Given the description of an element on the screen output the (x, y) to click on. 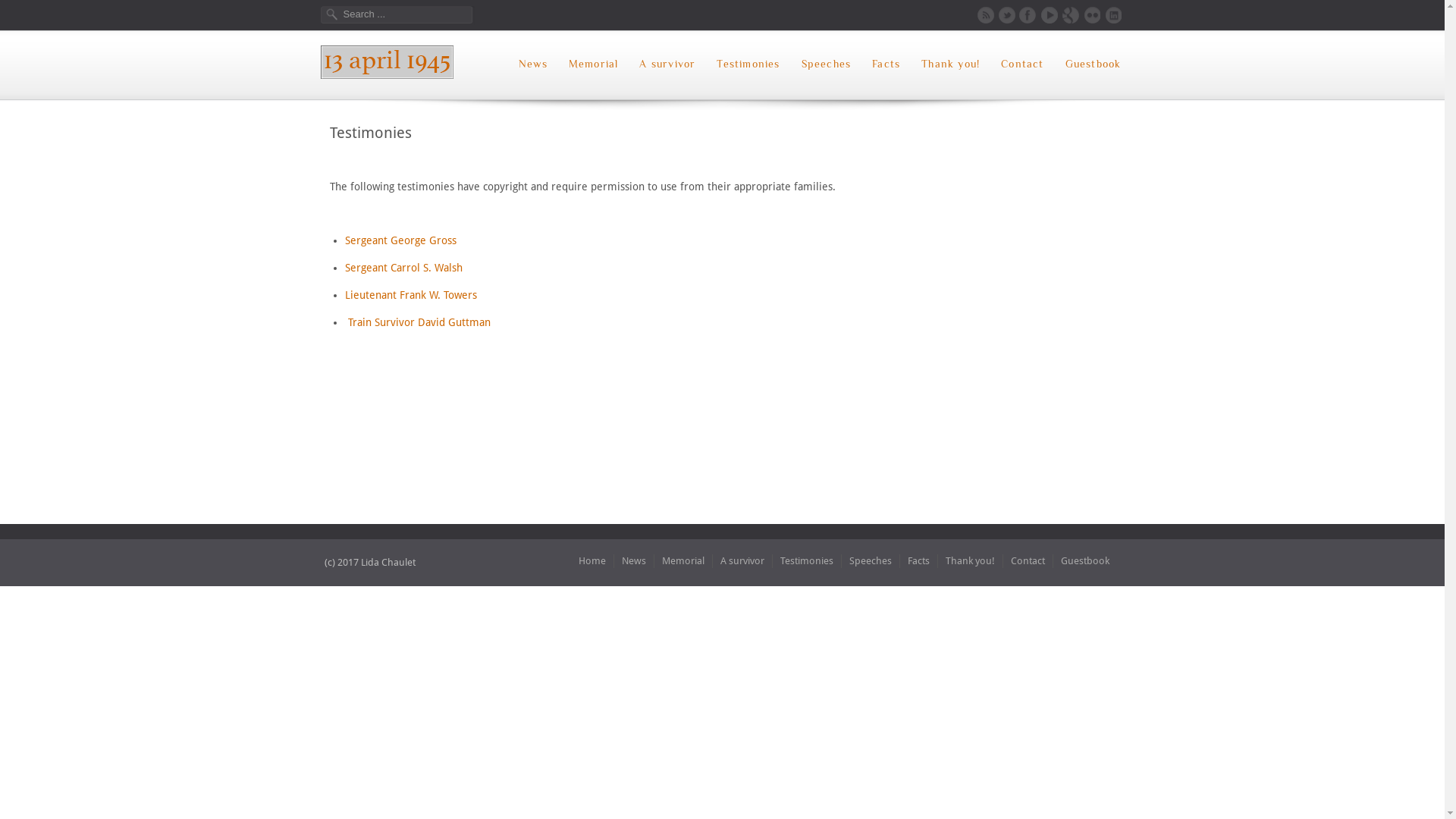
Facts Element type: text (918, 560)
Testimonies Element type: text (805, 560)
Contact Element type: text (1021, 63)
LinkedIn Element type: hover (1112, 14)
Youtube Element type: hover (1048, 14)
Guestbook Element type: text (1084, 560)
News Element type: text (532, 63)
Speeches Element type: text (826, 63)
Thank you! Element type: text (950, 63)
Guestbook Element type: text (1093, 63)
Testimonies Element type: text (747, 63)
Thank you! Element type: text (969, 560)
Flickr Element type: hover (1091, 14)
Train Survivor David Guttman Element type: text (418, 322)
RSS Feed Element type: hover (985, 14)
Twitter Element type: hover (1006, 14)
Facts Element type: text (885, 63)
Lieutenant Frank W. Towers Element type: text (410, 294)
Memorial Element type: text (682, 560)
A survivor Element type: text (742, 560)
Sergeant George Gross Element type: text (399, 240)
News Element type: text (634, 560)
Memorial Element type: text (593, 63)
Facebook Element type: hover (1027, 14)
Google Element type: hover (1070, 14)
A survivor Element type: text (667, 63)
Speeches Element type: text (870, 560)
Sergeant Carrol S. Walsh Element type: text (402, 267)
Home Element type: text (591, 560)
Contact Element type: text (1027, 560)
